Given the description of an element on the screen output the (x, y) to click on. 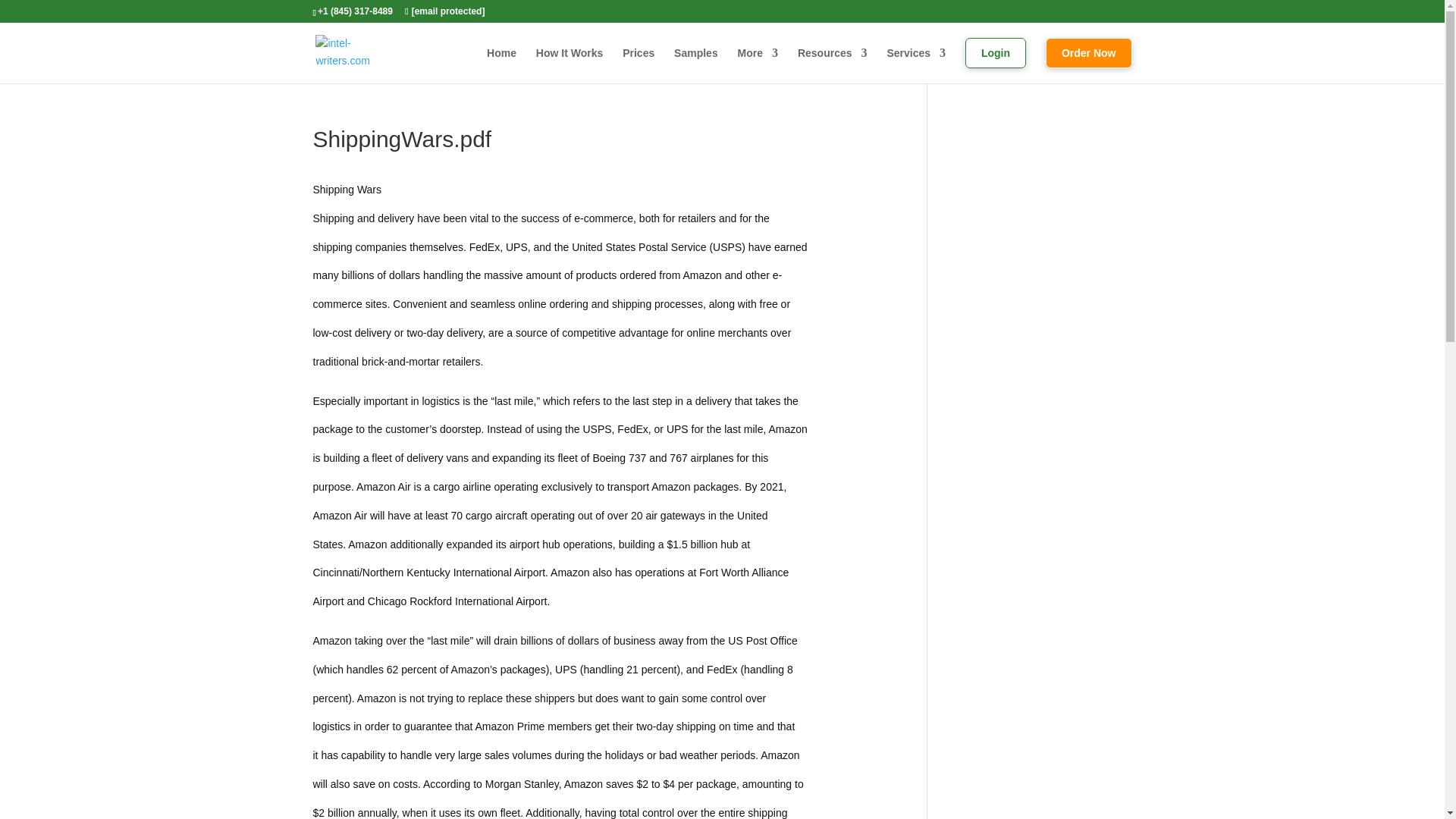
More (757, 60)
Login (995, 60)
How It Works (568, 60)
Prices (638, 60)
Home (501, 60)
Resources (832, 60)
Samples (695, 60)
Order Now (1088, 60)
Services (915, 60)
